Given the description of an element on the screen output the (x, y) to click on. 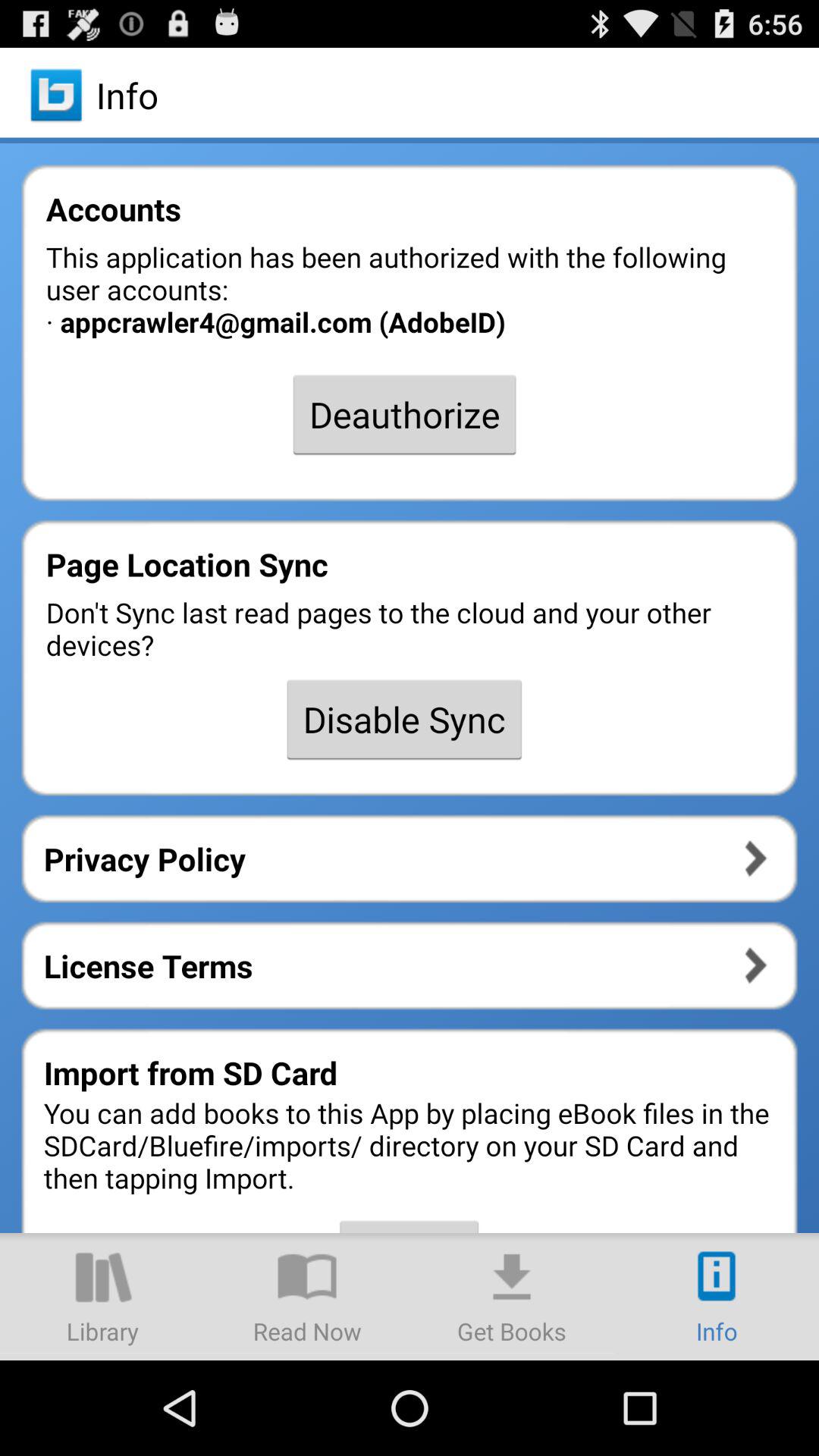
open read now screen (306, 1296)
